Given the description of an element on the screen output the (x, y) to click on. 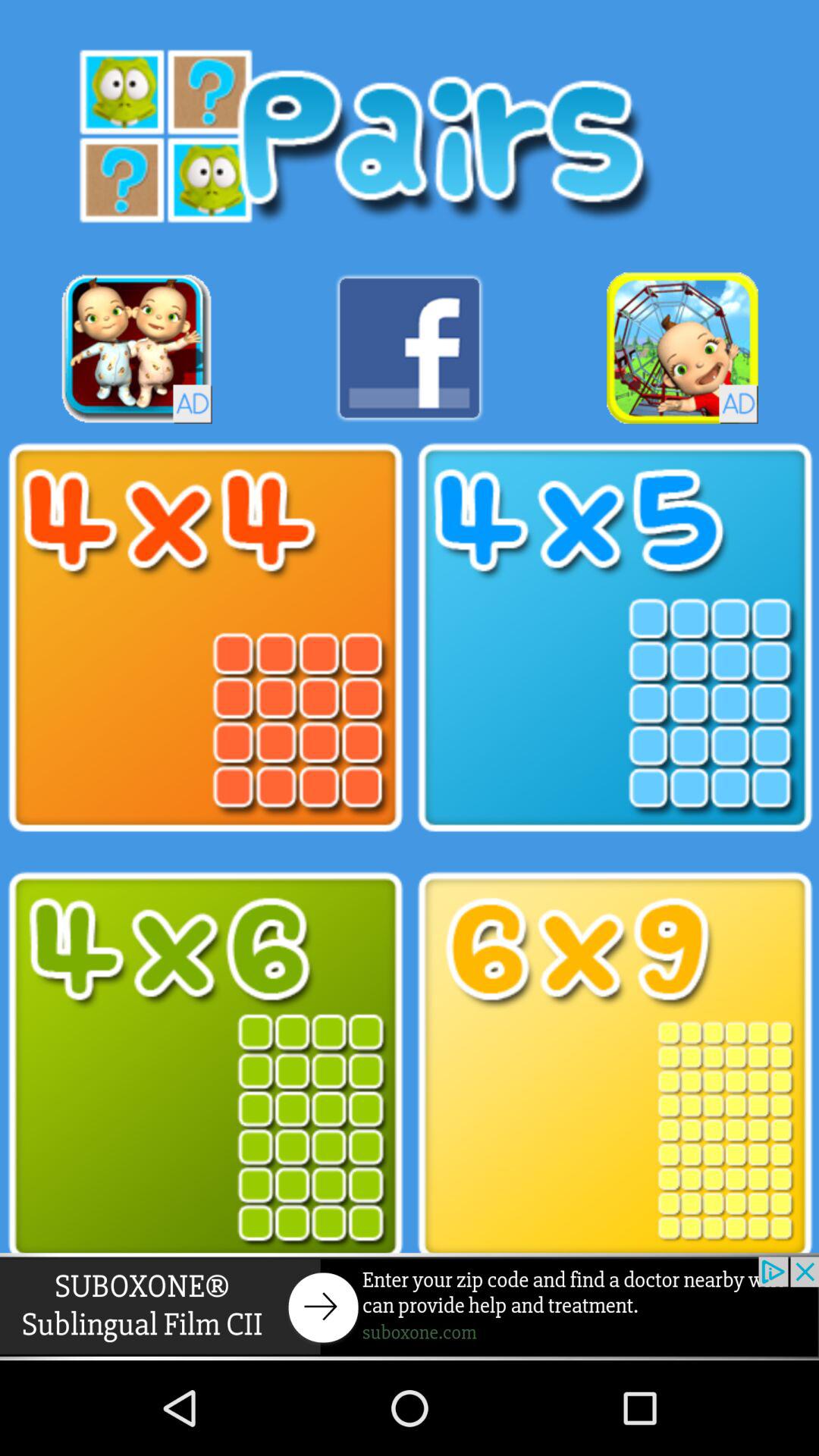
clicks the 4x6 (204, 1066)
